Given the description of an element on the screen output the (x, y) to click on. 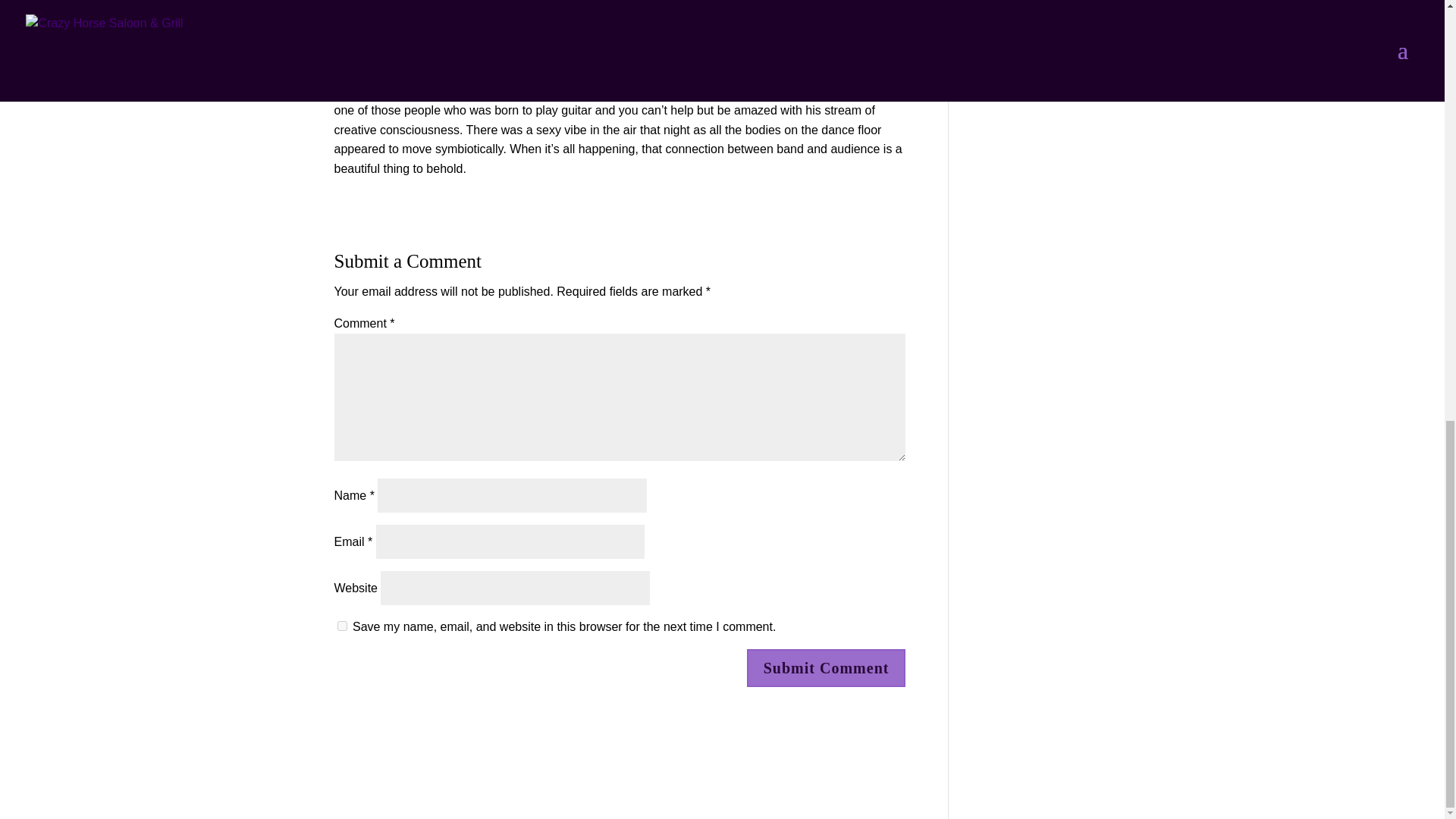
yes (341, 625)
Submit Comment (825, 668)
Submit Comment (825, 668)
